Given the description of an element on the screen output the (x, y) to click on. 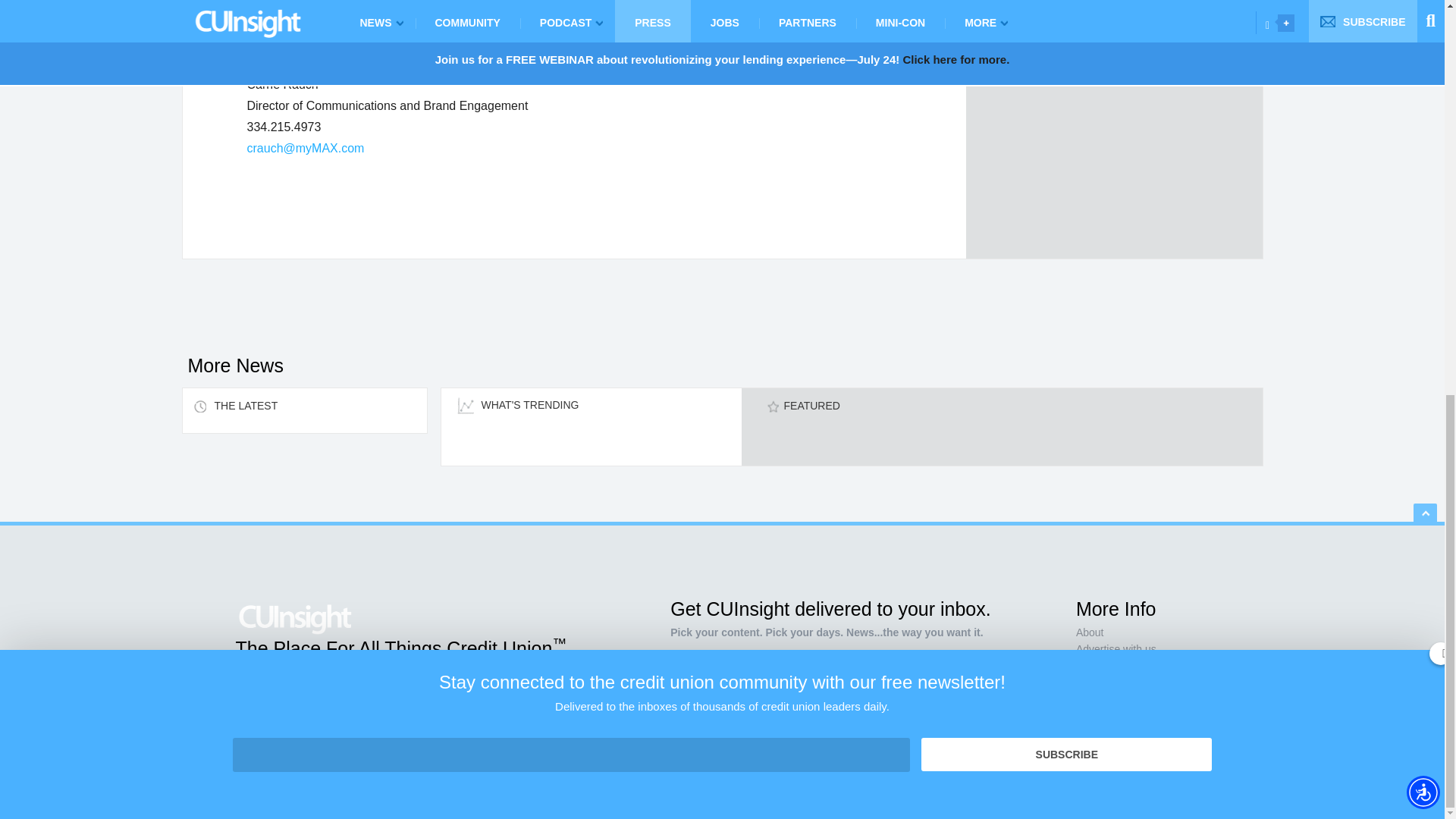
Accessibility Menu (1422, 29)
Subscribe (1066, 4)
Subscribe (909, 716)
